Given the description of an element on the screen output the (x, y) to click on. 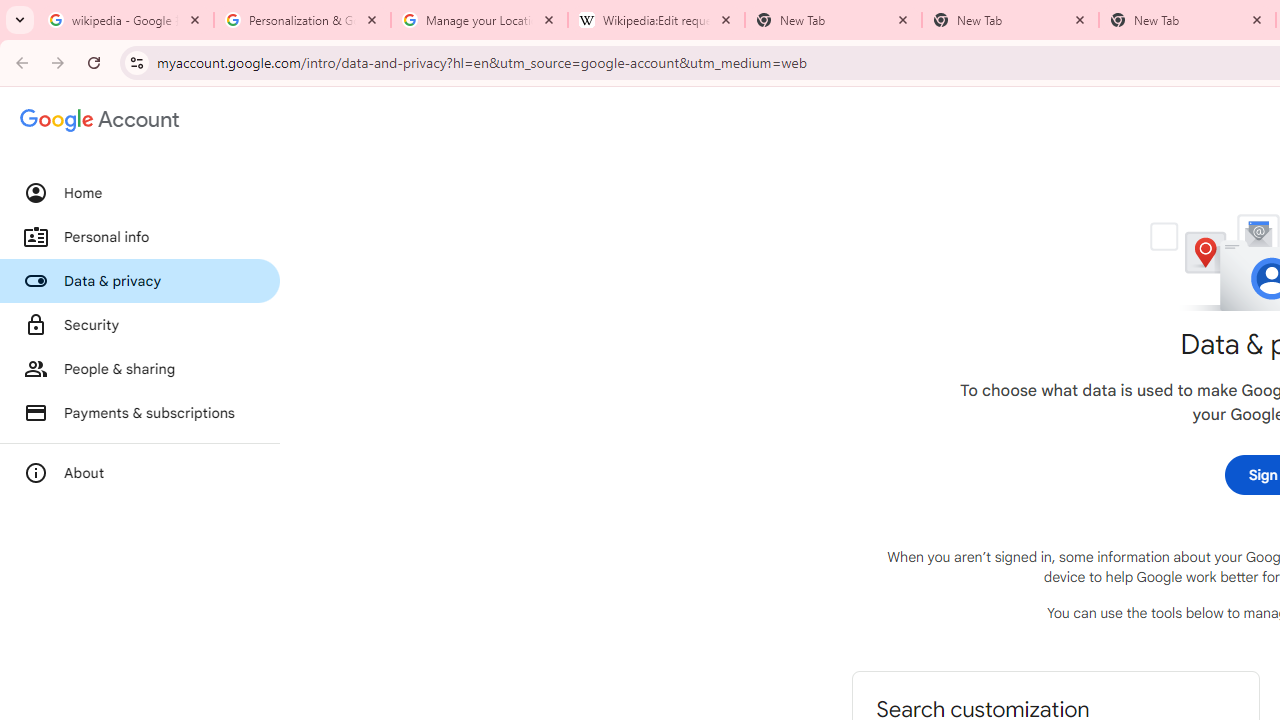
Personalization & Google Search results - Google Search Help (301, 20)
People & sharing (140, 368)
Payments & subscriptions (140, 412)
Wikipedia:Edit requests - Wikipedia (656, 20)
